Given the description of an element on the screen output the (x, y) to click on. 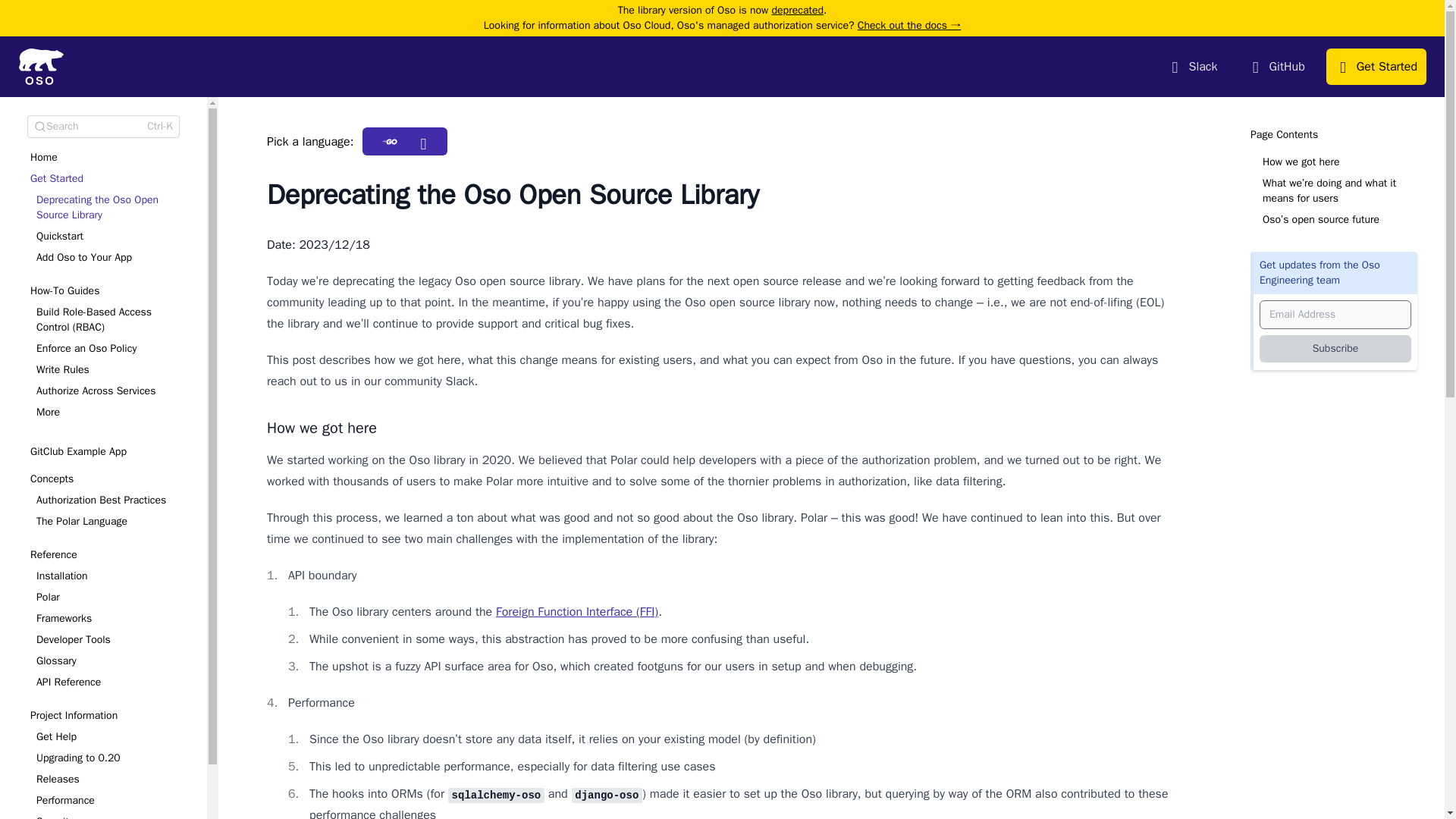
Authorize Across Services (106, 391)
Authorization Best Practices (109, 500)
Quickstart (109, 236)
Add Oso to Your App (106, 257)
Enforce an Oso Policy (109, 348)
Quickstart (106, 236)
Get Started (106, 178)
More (106, 412)
Get Started (103, 221)
Enforce an Oso Policy (106, 348)
Slack (1192, 66)
How-To Guides (103, 354)
GitHub (1276, 66)
Authorize Across Services (109, 391)
